Given the description of an element on the screen output the (x, y) to click on. 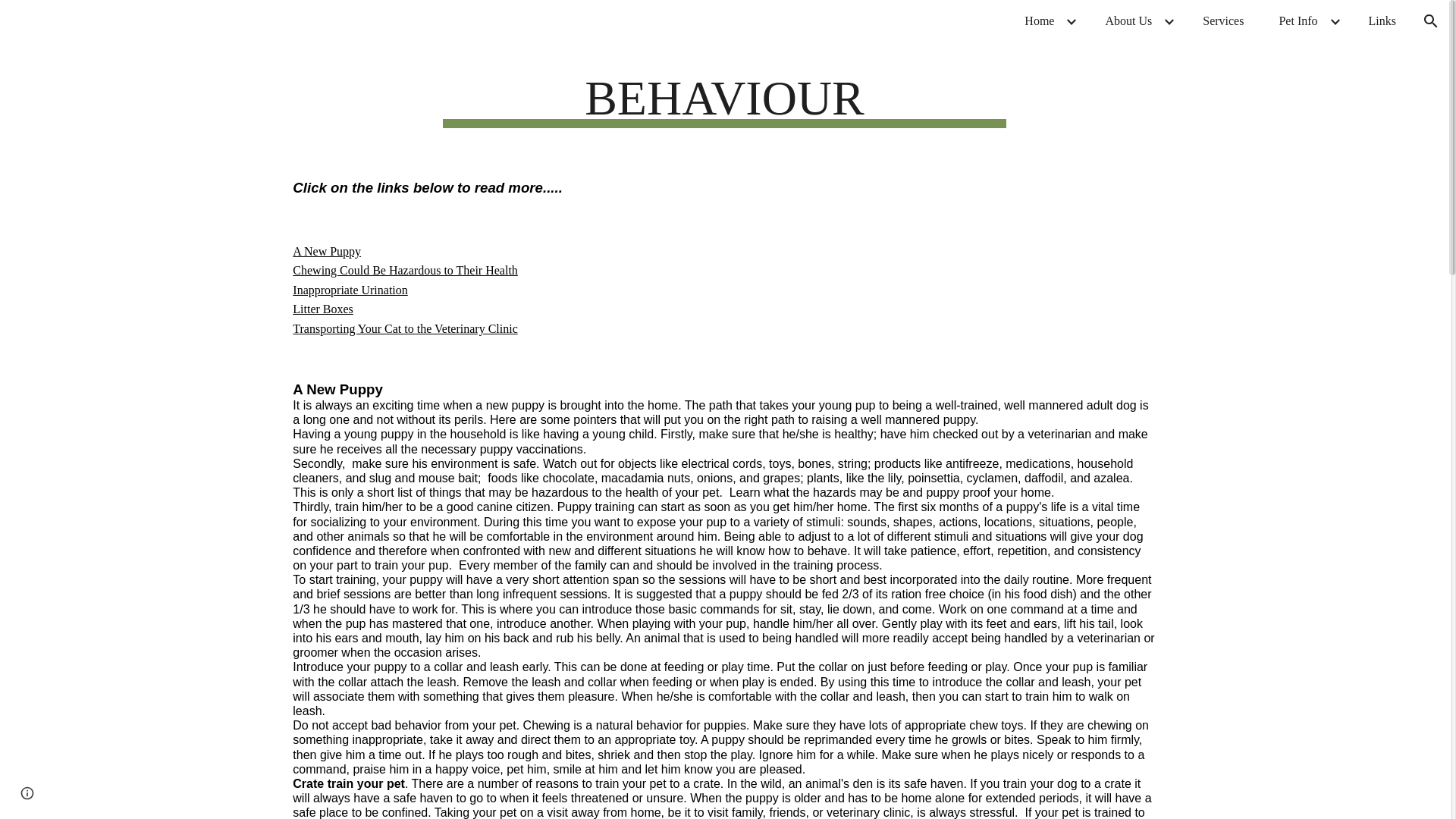
Pet Info (1297, 20)
About Us (1127, 20)
Services (1222, 20)
Home (1038, 20)
